Given the description of an element on the screen output the (x, y) to click on. 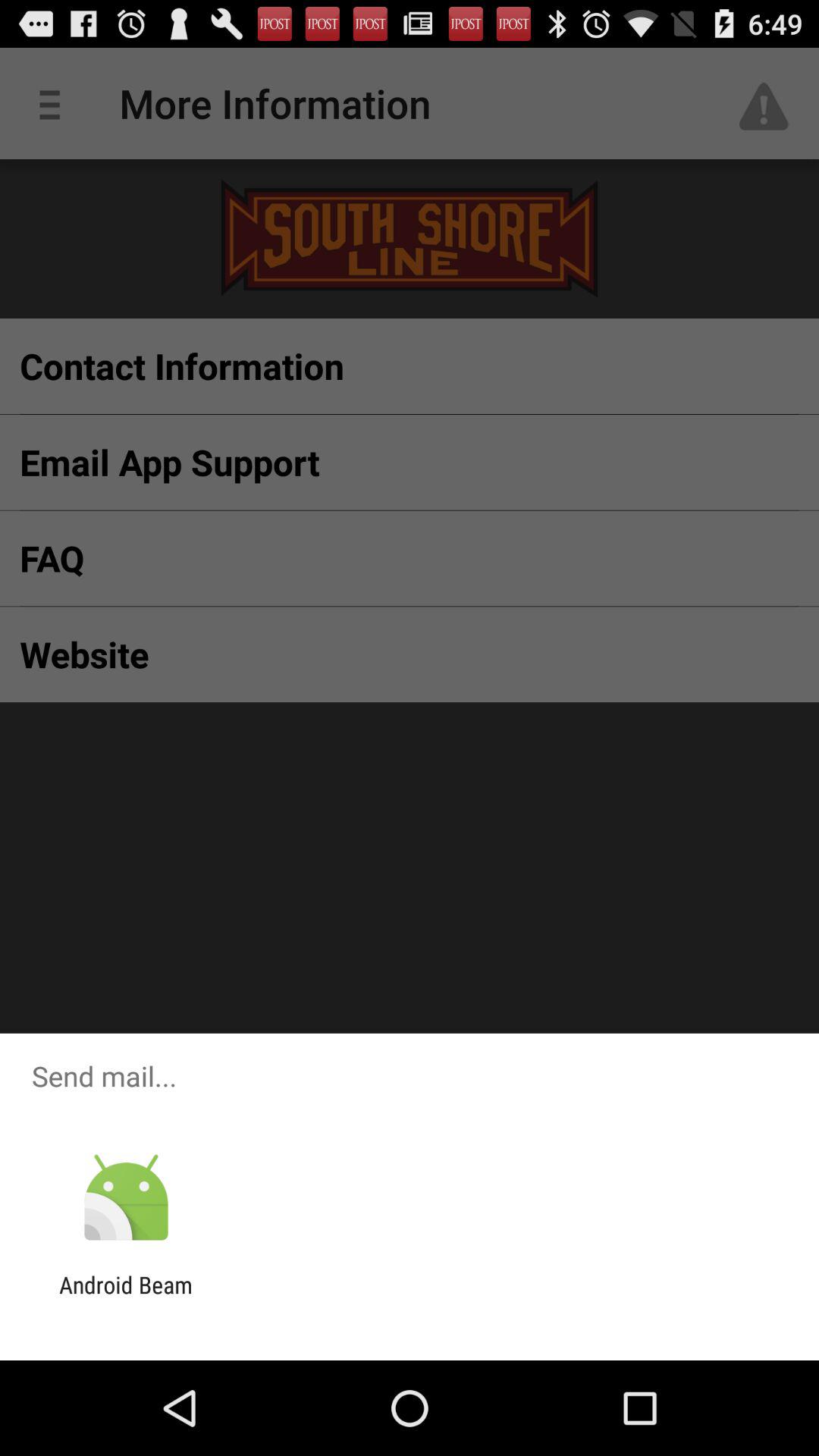
choose the app above the android beam app (126, 1198)
